Given the description of an element on the screen output the (x, y) to click on. 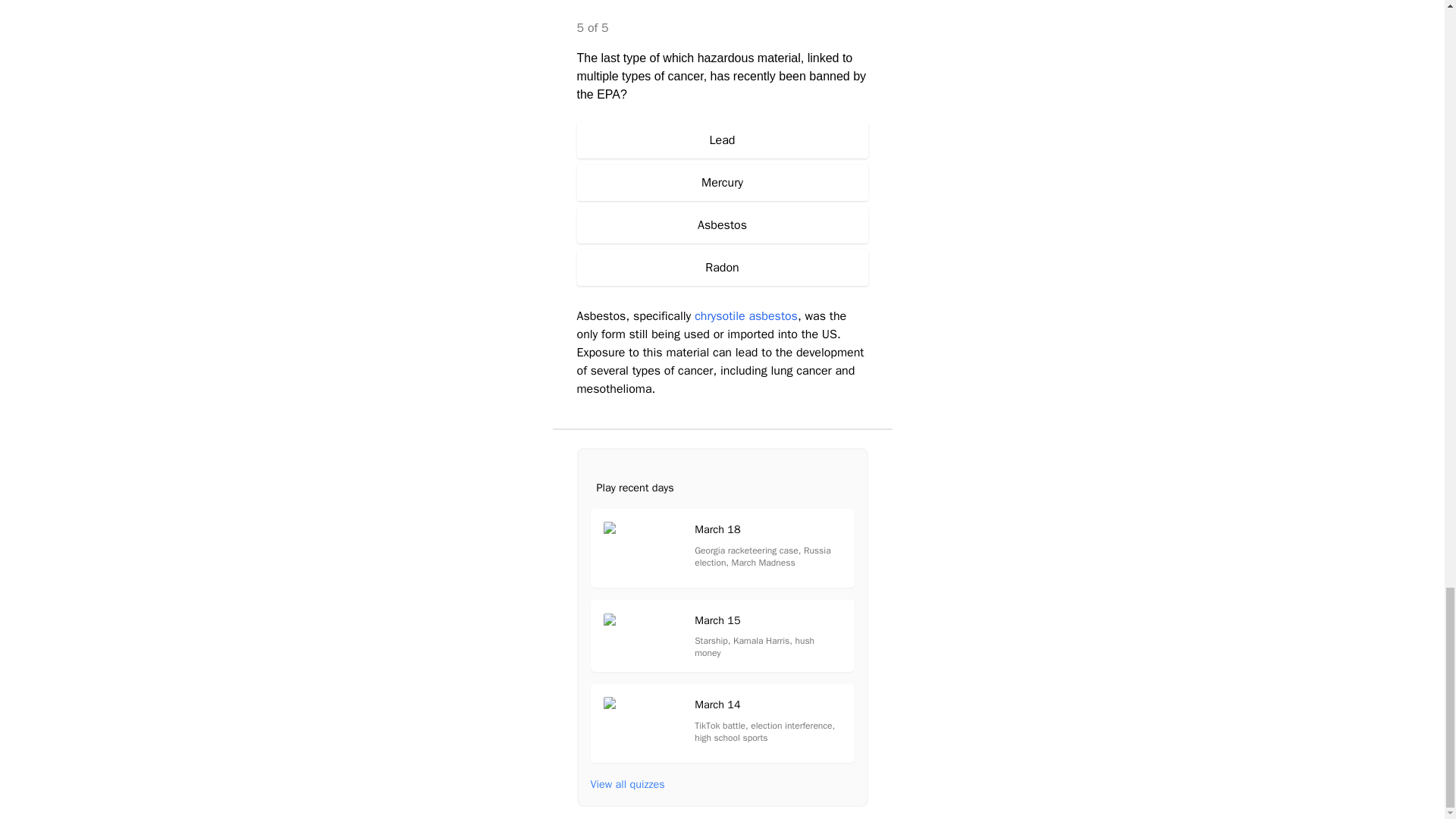
Asbestos (721, 225)
chrysotile asbestos (745, 315)
Radon (721, 267)
Lead (721, 140)
Mercury (721, 635)
View all quizzes (721, 182)
